Given the description of an element on the screen output the (x, y) to click on. 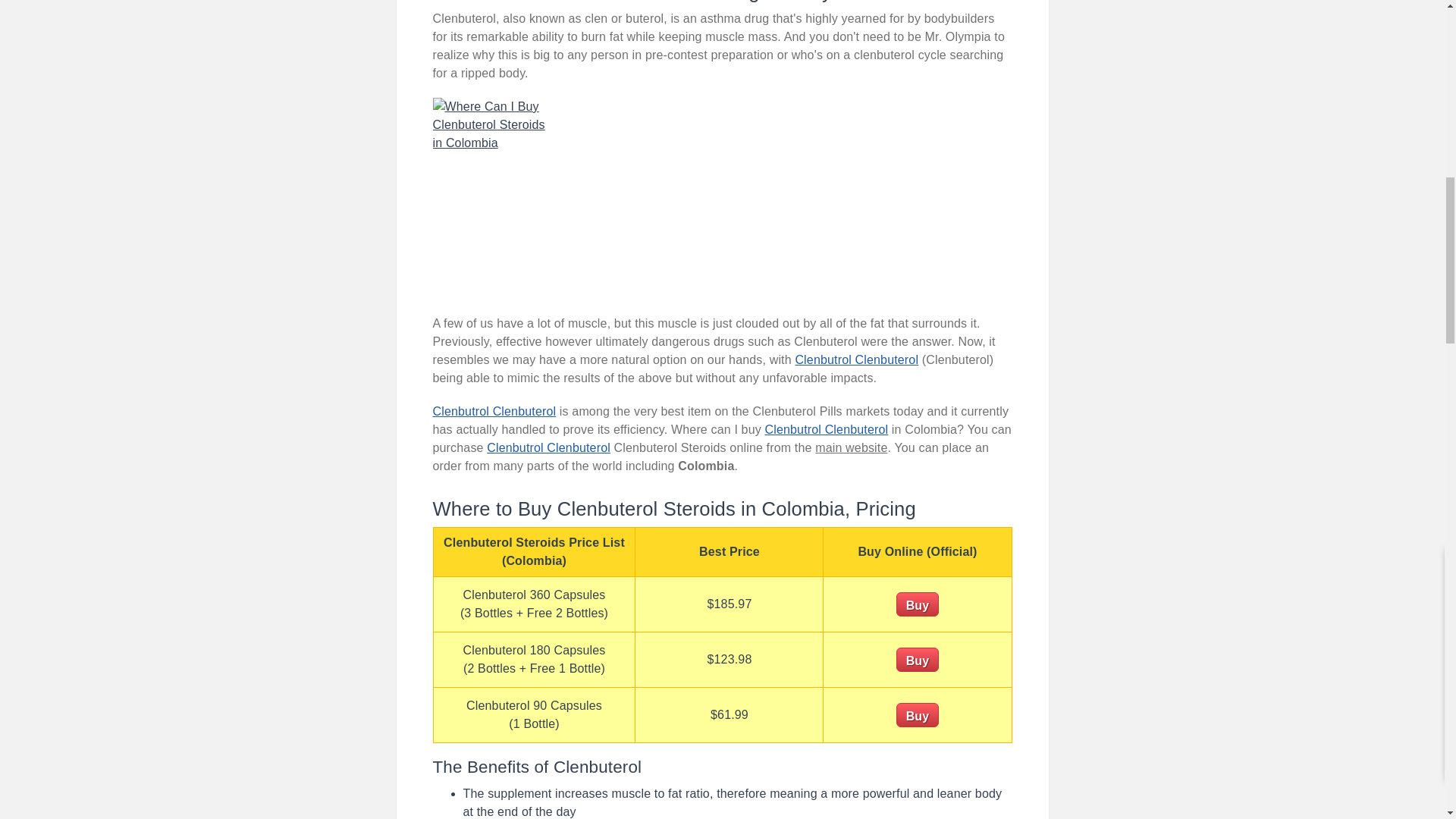
Where Can I Buy Clenbuterol Steroids in Colombia (494, 199)
